Given the description of an element on the screen output the (x, y) to click on. 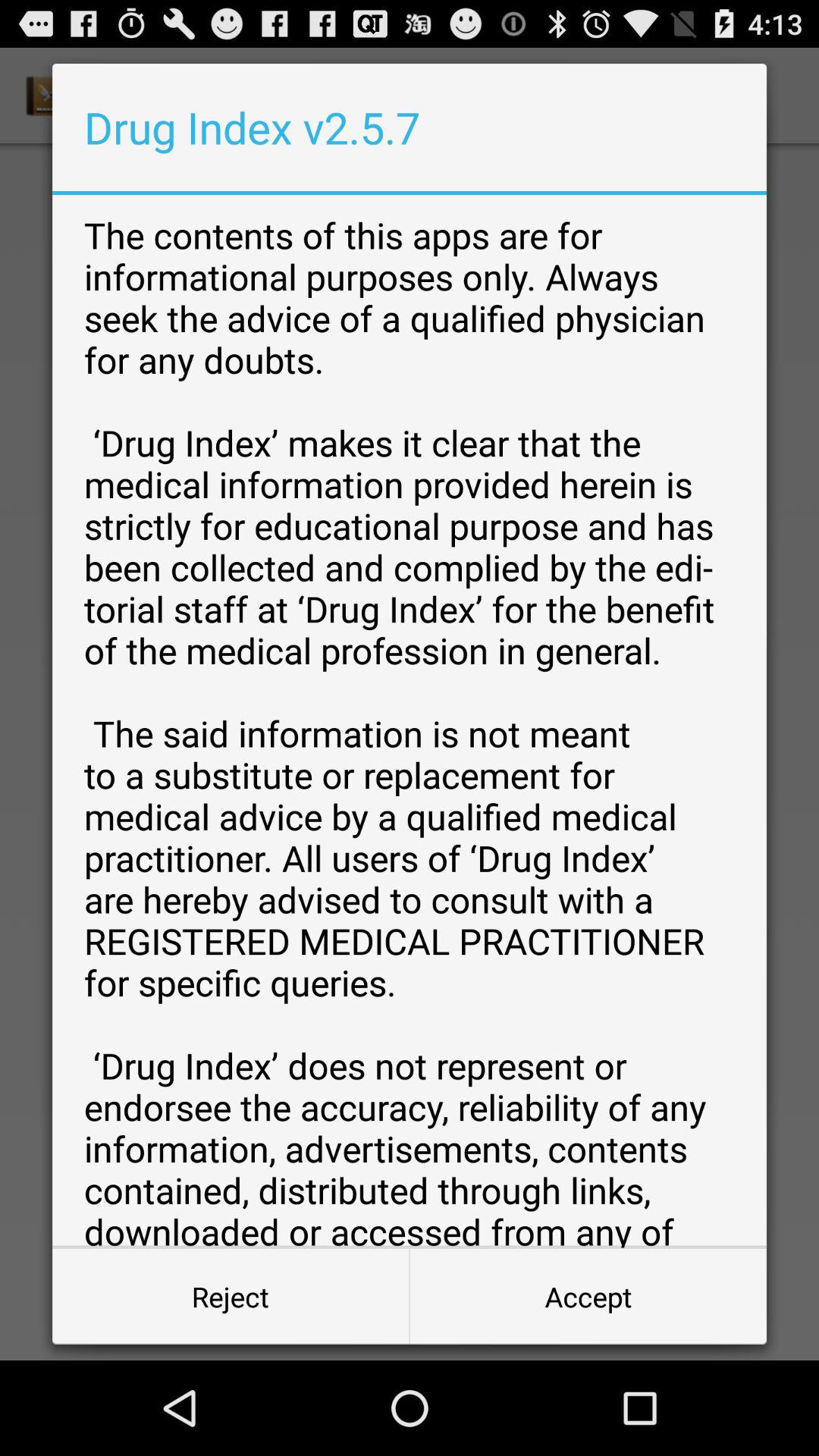
tap accept at the bottom right corner (588, 1296)
